Given the description of an element on the screen output the (x, y) to click on. 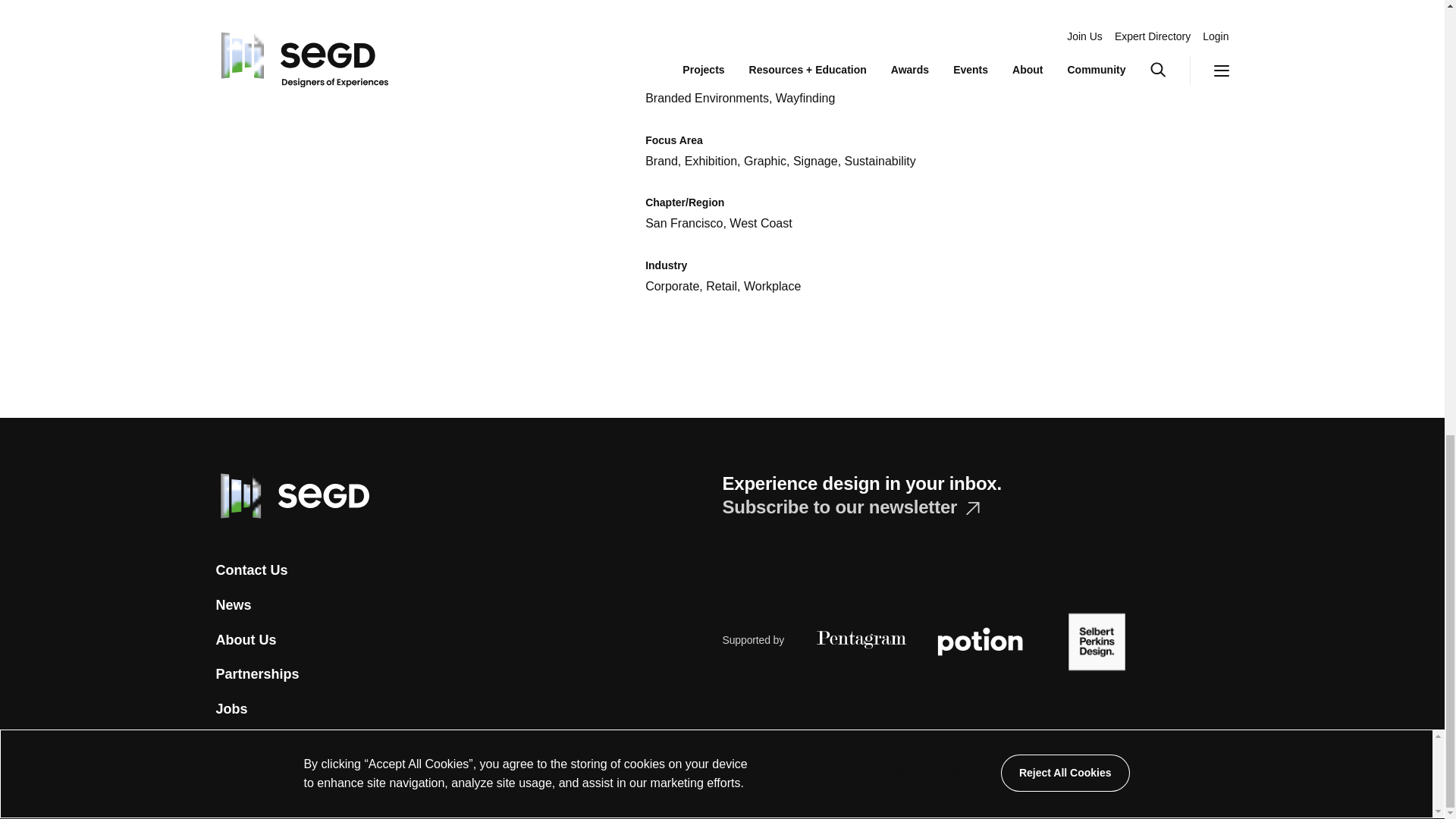
Link to twitter (222, 783)
About Us (245, 639)
Society for Experiential Graphic Design logo (291, 495)
Wide Eye (903, 786)
Contact Us (250, 570)
News (232, 605)
Link to instagram (283, 786)
Return to Homepage (291, 494)
Link to linkedin (383, 786)
